Given the description of an element on the screen output the (x, y) to click on. 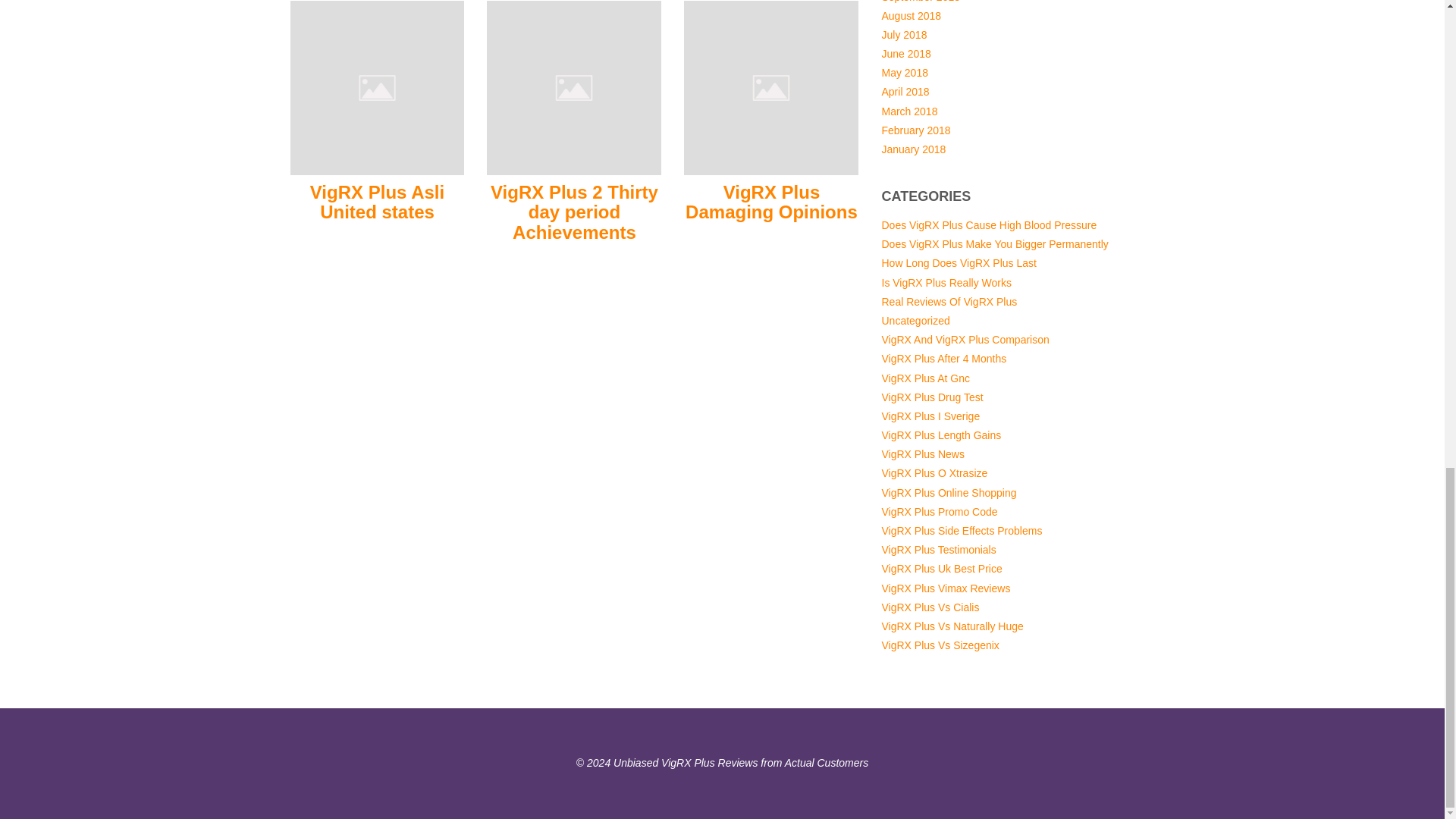
VigRX Plus Damaging Opinions (771, 87)
VigRX Plus Asli United states (377, 201)
VigRX Plus Damaging Opinions (771, 201)
VigRX Plus 2 Thirty day period Achievements (573, 87)
VigRX Plus 2 Thirty day period Achievements (574, 211)
VigRX Plus Asli United states (376, 87)
